Given the description of an element on the screen output the (x, y) to click on. 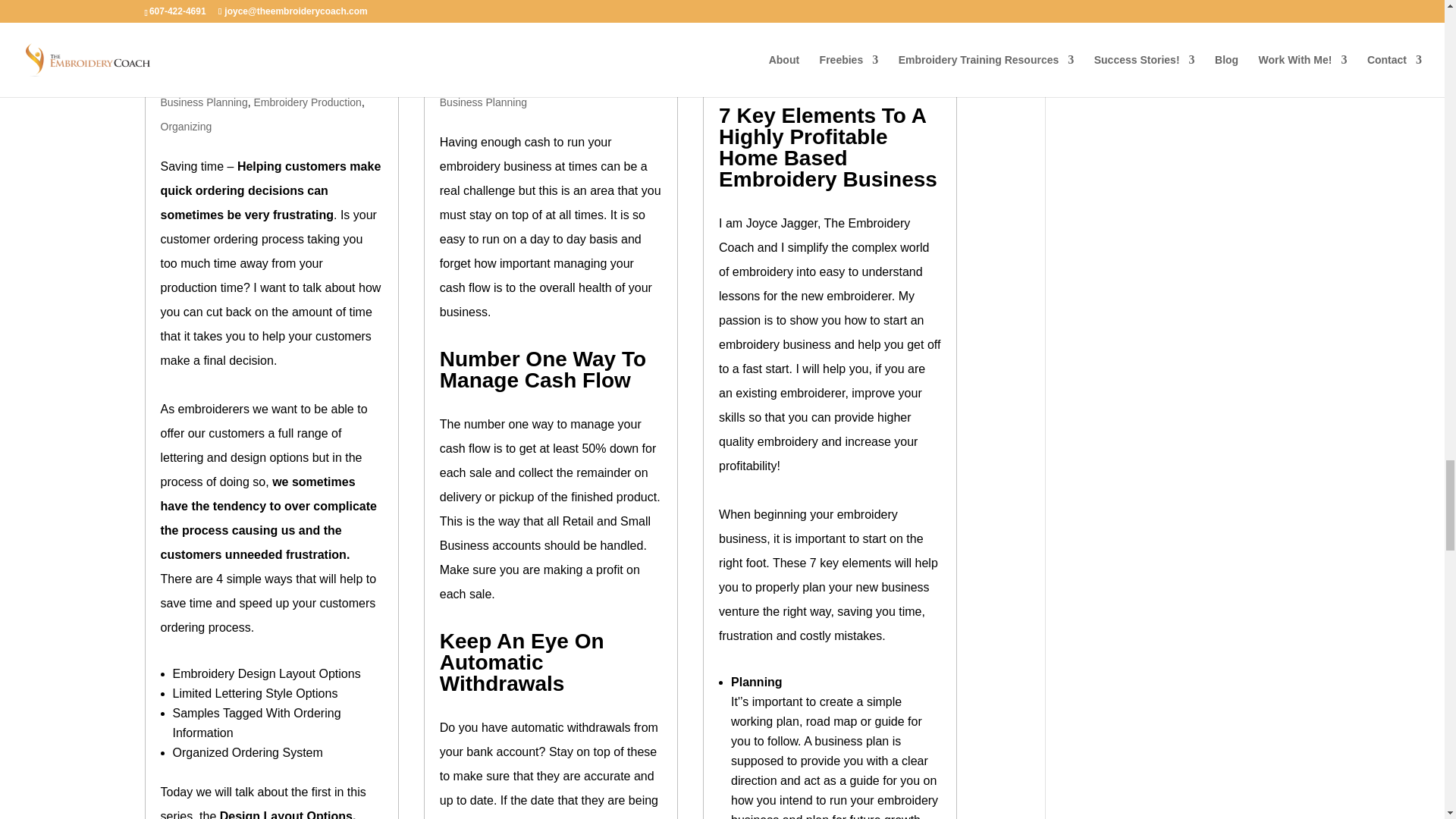
Posts by The Embroidery Coach (228, 78)
Posts by The Embroidery Coach (786, 52)
Posts by The Embroidery Coach (507, 78)
